Given the description of an element on the screen output the (x, y) to click on. 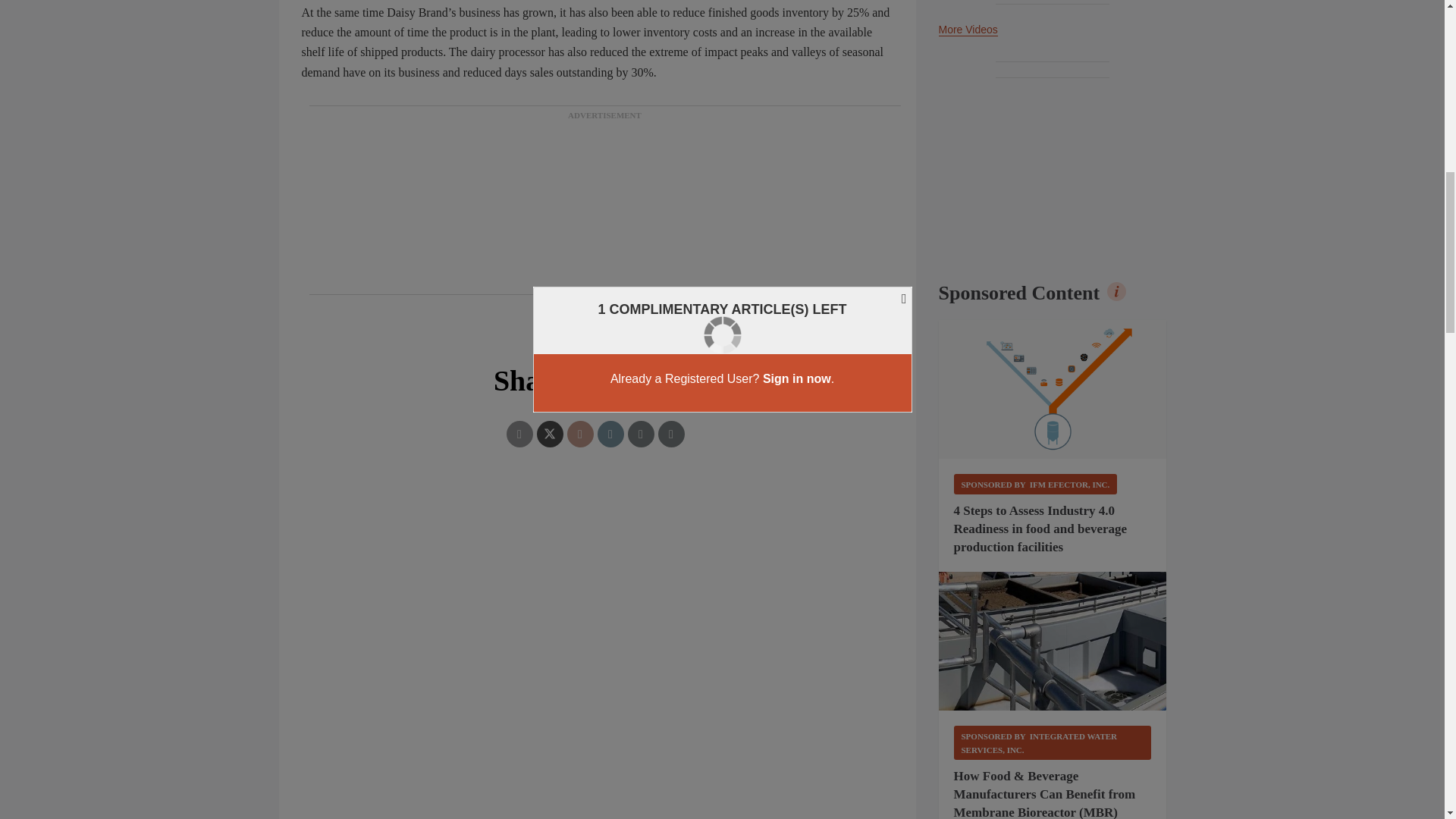
Modular MBR (1052, 641)
Sponsored by ifm Efector, Inc. (1035, 484)
Sponsored by Integrated Water Services, Inc. (1052, 742)
Industry 4.0 Y path (1052, 389)
Interaction questions (597, 558)
